Given the description of an element on the screen output the (x, y) to click on. 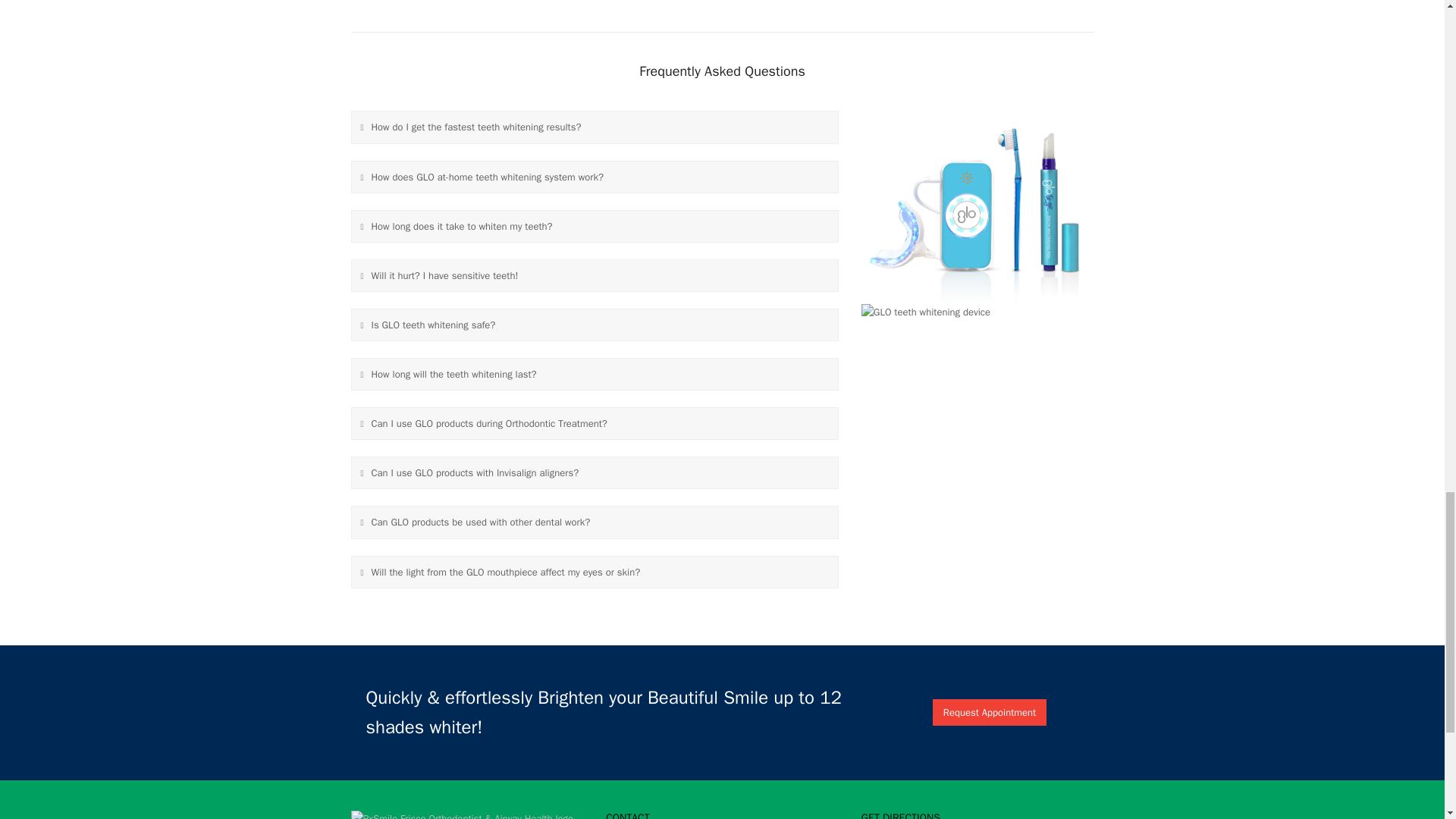
GLO-teeth-whitening-at-home2 (925, 311)
Request Appointment (989, 712)
Request Appointment (989, 712)
GLO-teeth-whitening-at-home-kit (977, 206)
